Given the description of an element on the screen output the (x, y) to click on. 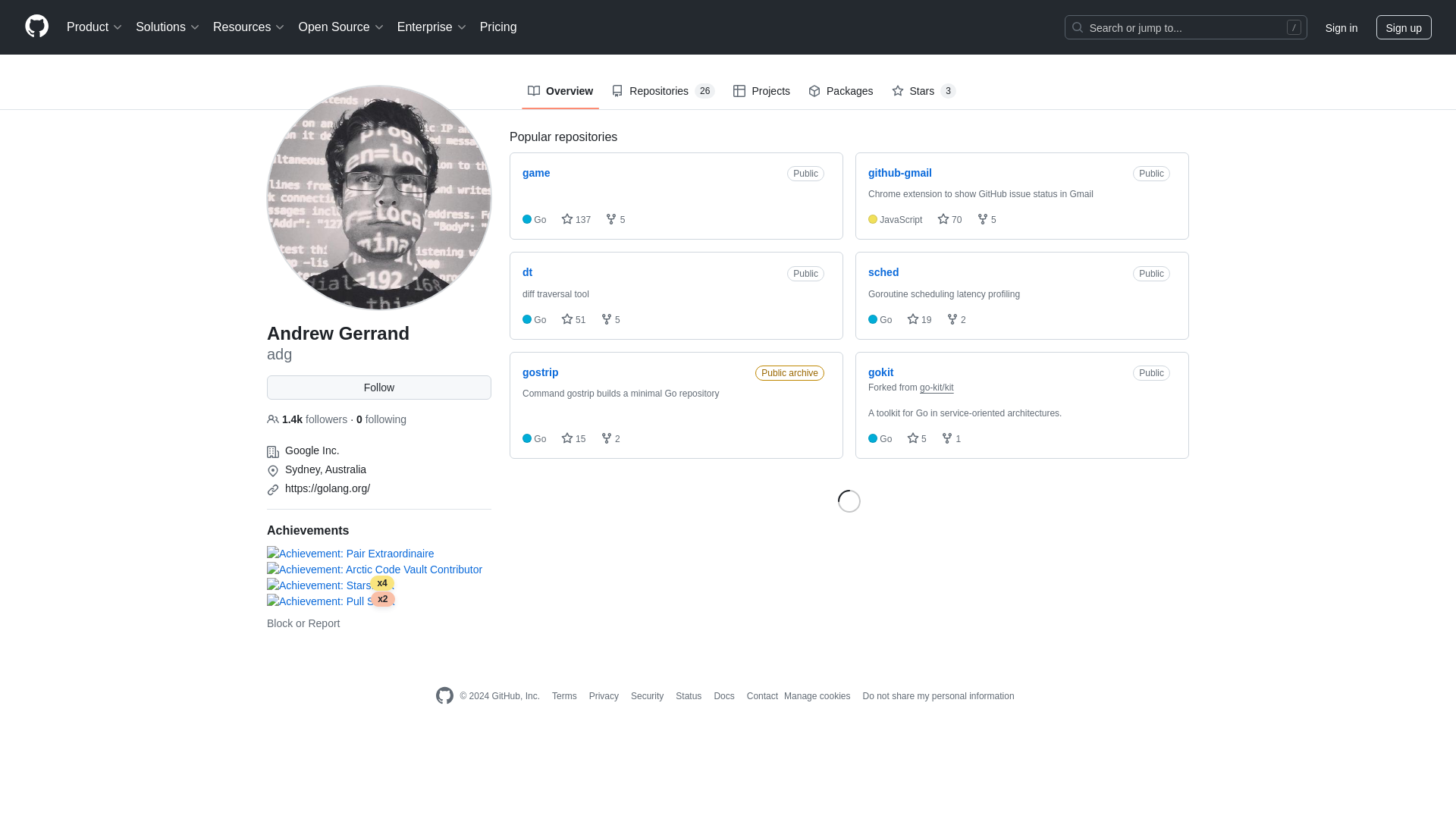
26 (704, 90)
Product (95, 27)
Solutions (167, 27)
Open Source (341, 27)
Resources (249, 27)
GitHub (443, 695)
3 (948, 90)
